Given the description of an element on the screen output the (x, y) to click on. 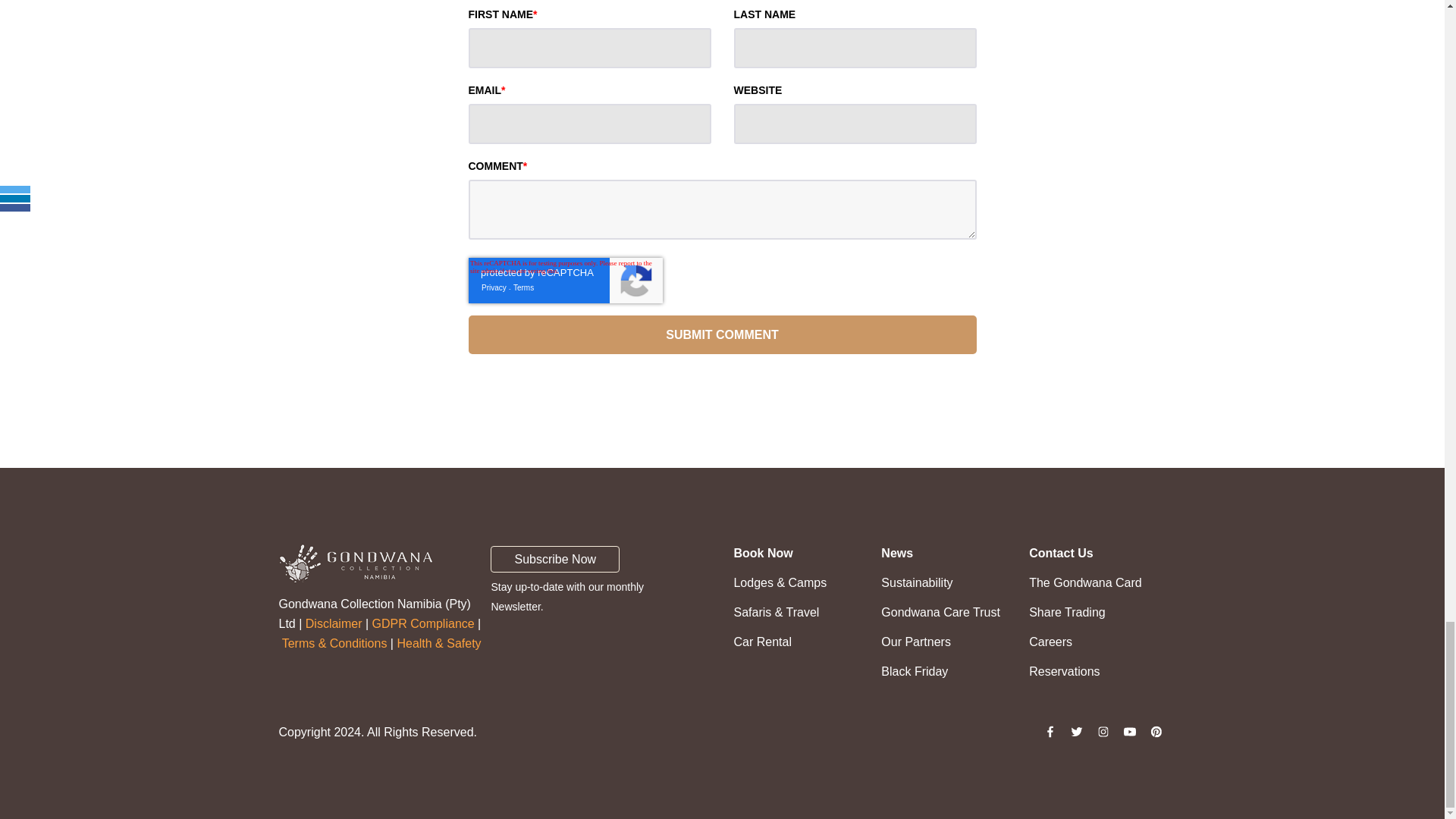
reCAPTCHA (565, 280)
Gondwana-Collection-Logo-Footer-1 (355, 563)
Submit Comment (722, 334)
